Given the description of an element on the screen output the (x, y) to click on. 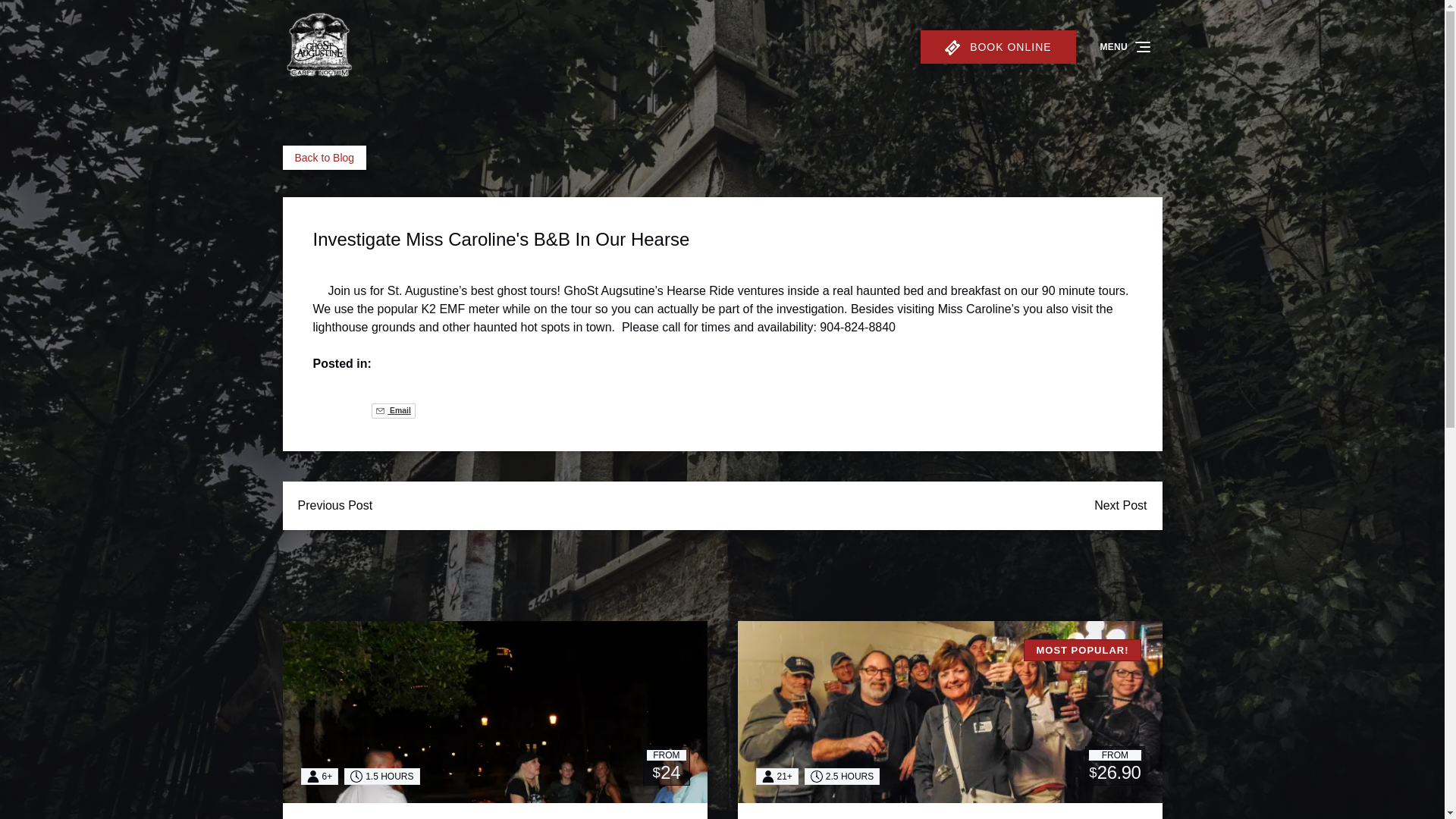
Skip to footer (42, 16)
Skip to primary navigation (77, 16)
Email (392, 410)
TICKET (951, 47)
Next Post (1119, 505)
Skip to content (47, 16)
Previous Post (334, 505)
TICKET BOOK ONLINE (997, 46)
Back to Blog (324, 157)
MENU (1125, 46)
